Given the description of an element on the screen output the (x, y) to click on. 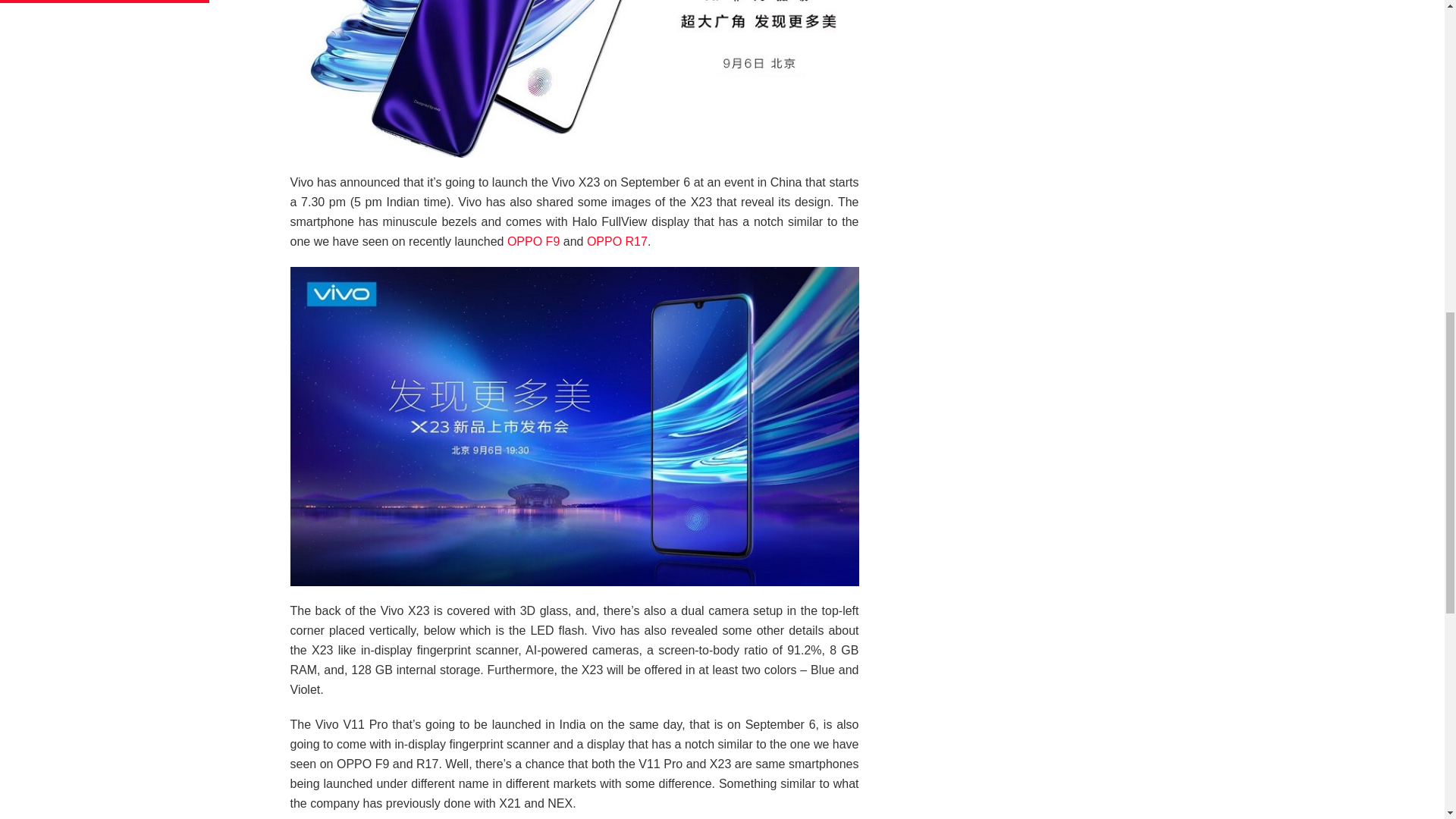
OPPO F9 (532, 241)
OPPO R17 (616, 241)
